Given the description of an element on the screen output the (x, y) to click on. 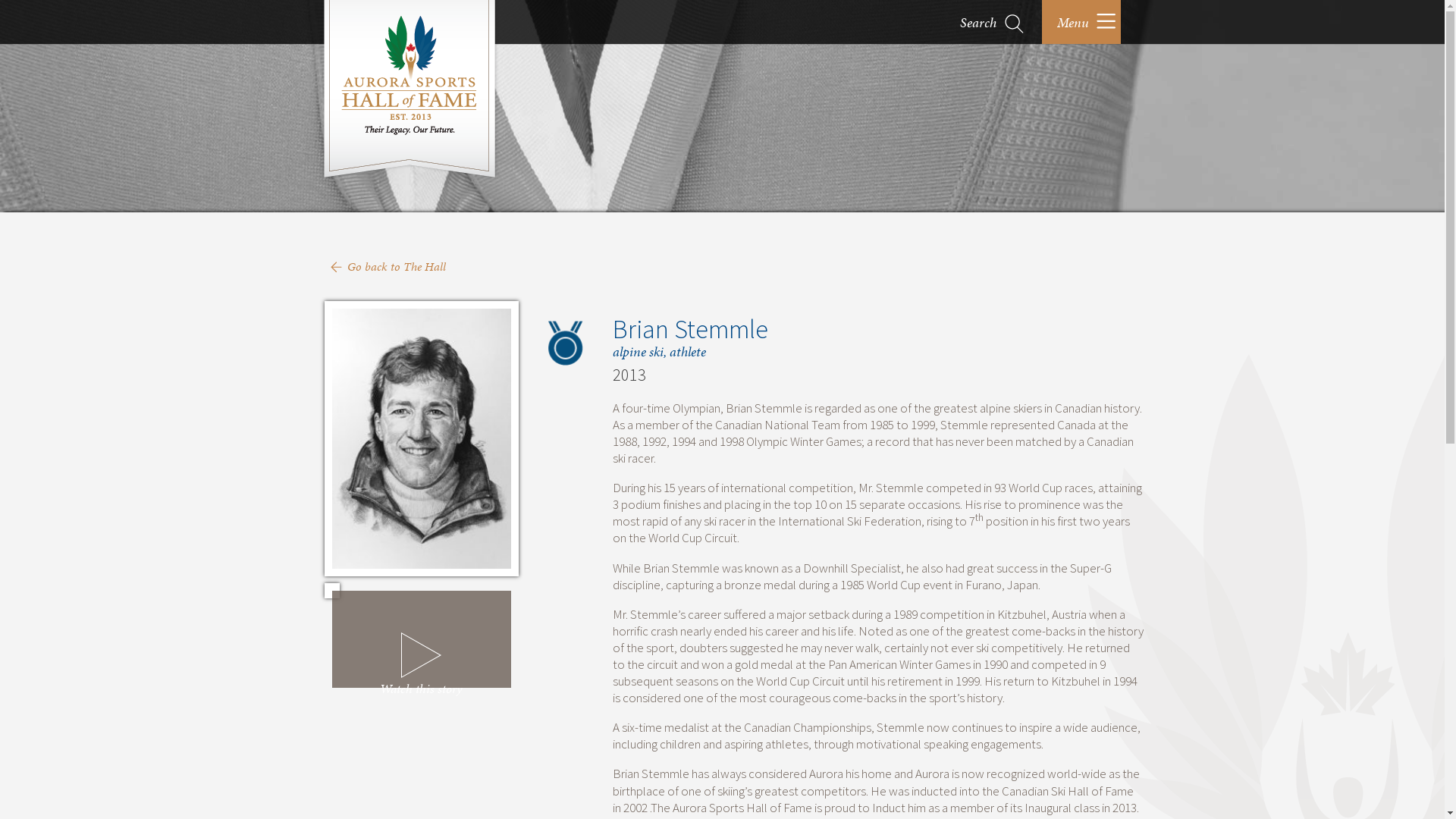
Go back to The Hall Element type: text (396, 266)
